Given the description of an element on the screen output the (x, y) to click on. 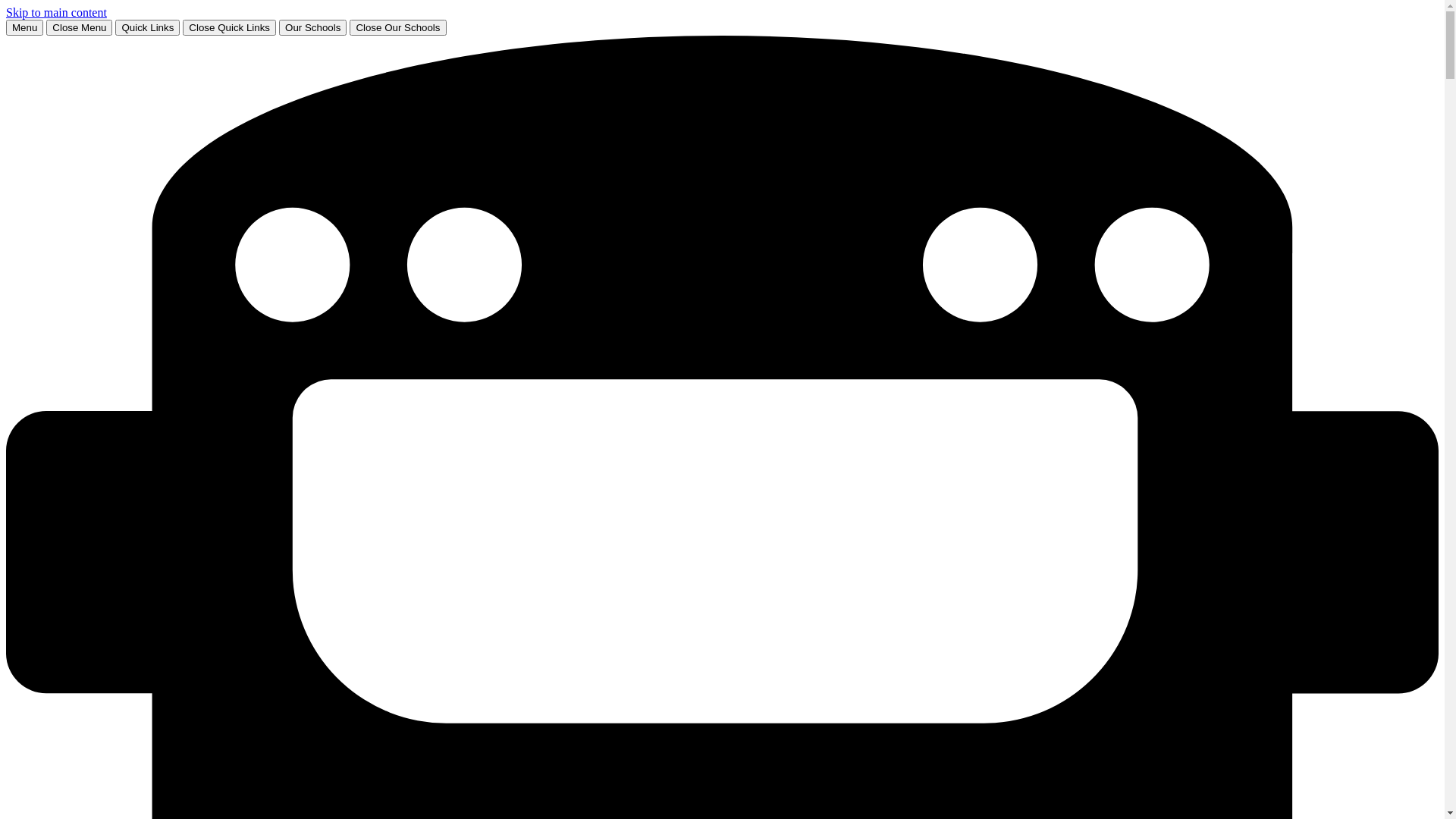
Close Menu Element type: text (79, 27)
Menu Element type: text (24, 27)
Quick Links Element type: text (147, 27)
Our Schools Element type: text (312, 27)
Skip to main content Element type: text (56, 12)
Close Our Schools Element type: text (397, 27)
Close Quick Links Element type: text (229, 27)
